Given the description of an element on the screen output the (x, y) to click on. 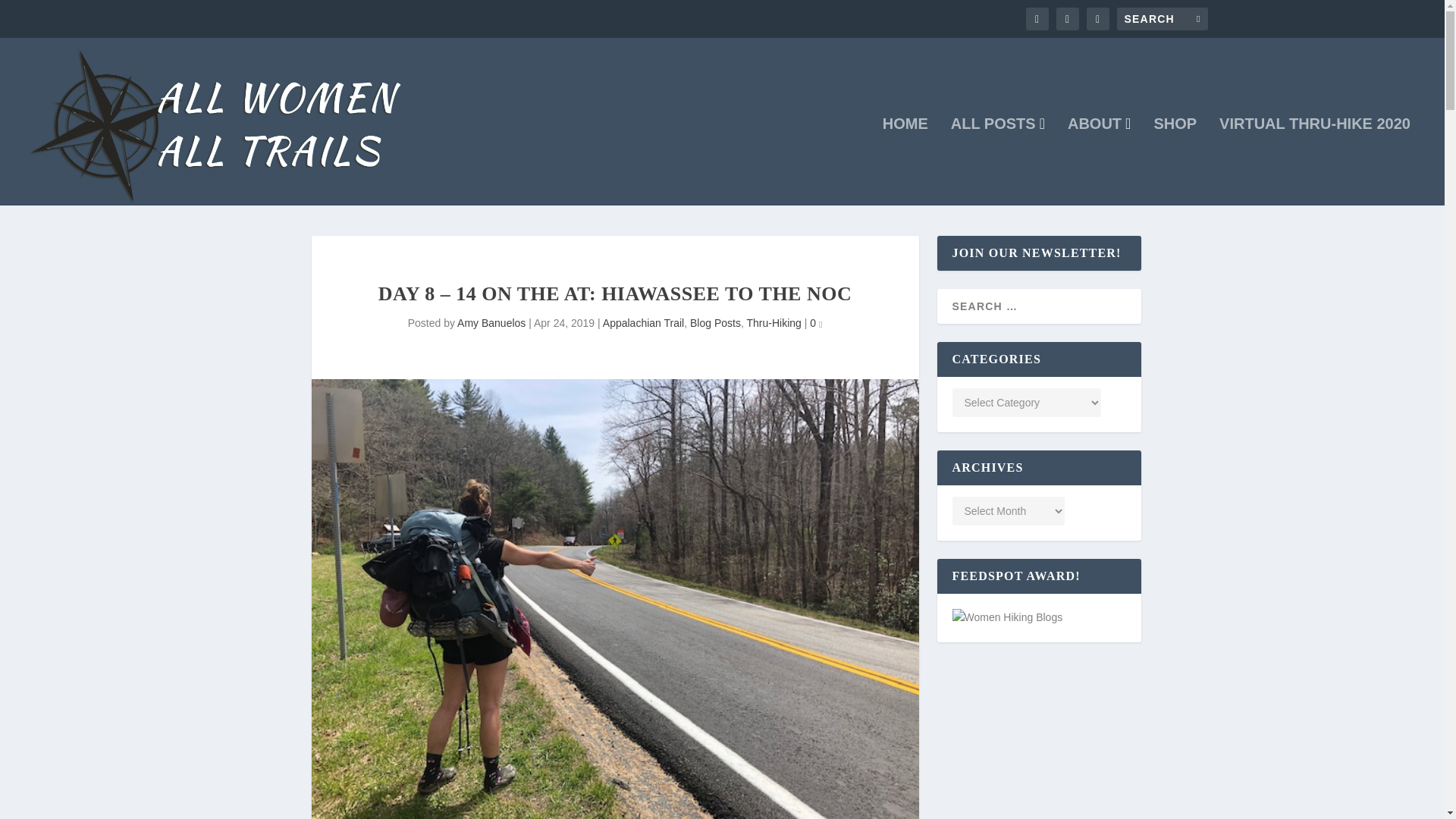
Amy Banuelos (491, 322)
Appalachian Trail (643, 322)
Search (32, 13)
Posts by Amy Banuelos (491, 322)
ALL POSTS (997, 161)
Blog Posts (715, 322)
VIRTUAL THRU-HIKE 2020 (1315, 161)
0 (815, 322)
Thru-Hiking (772, 322)
Search for: (1161, 18)
